Given the description of an element on the screen output the (x, y) to click on. 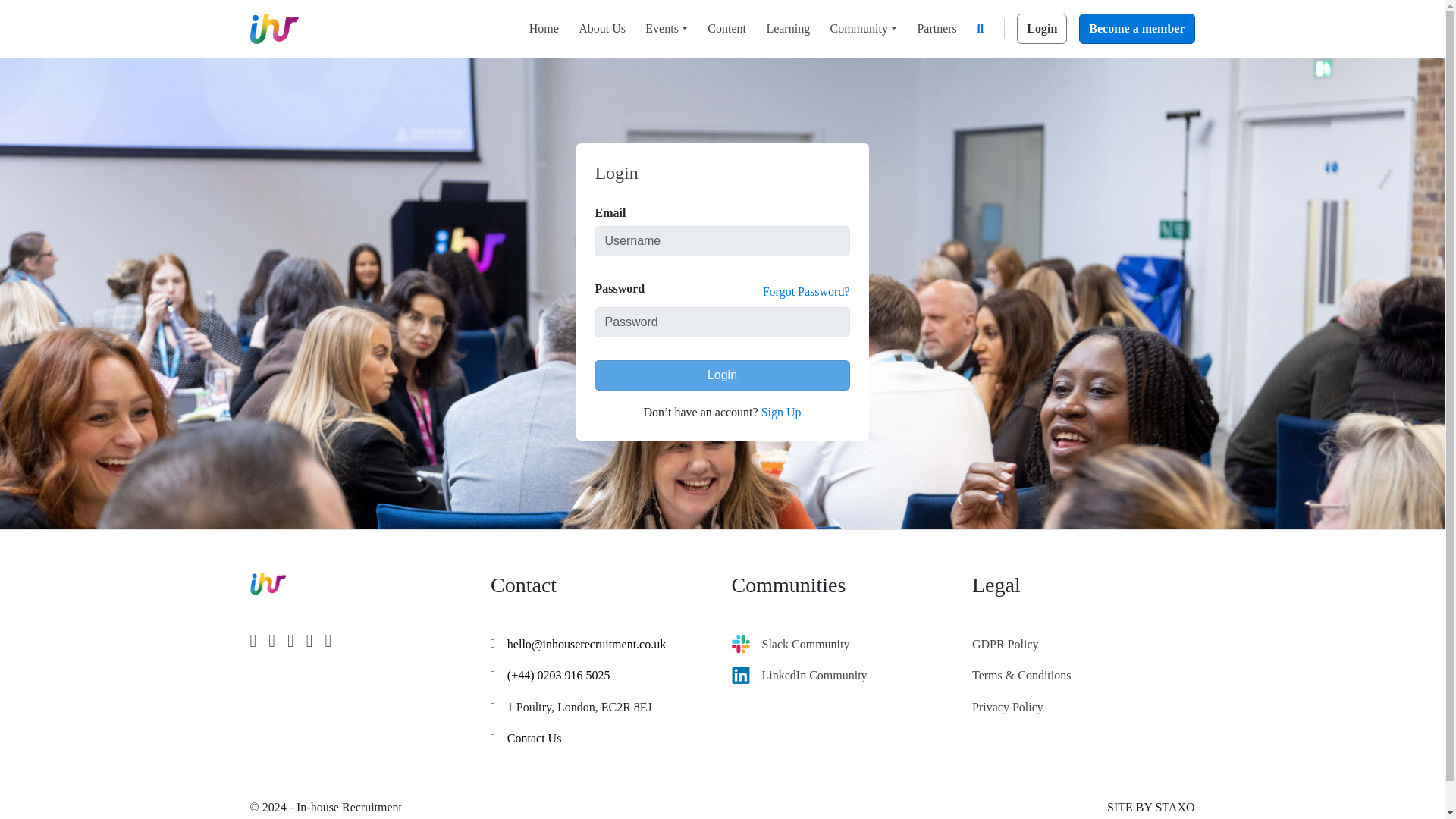
Login (721, 375)
Partners (936, 28)
Privacy Policy (1007, 713)
Forgot Password? (806, 291)
Slack Community (804, 644)
Contact Us (534, 738)
Community (863, 28)
About Us (601, 28)
Home (542, 28)
Events (666, 28)
